Given the description of an element on the screen output the (x, y) to click on. 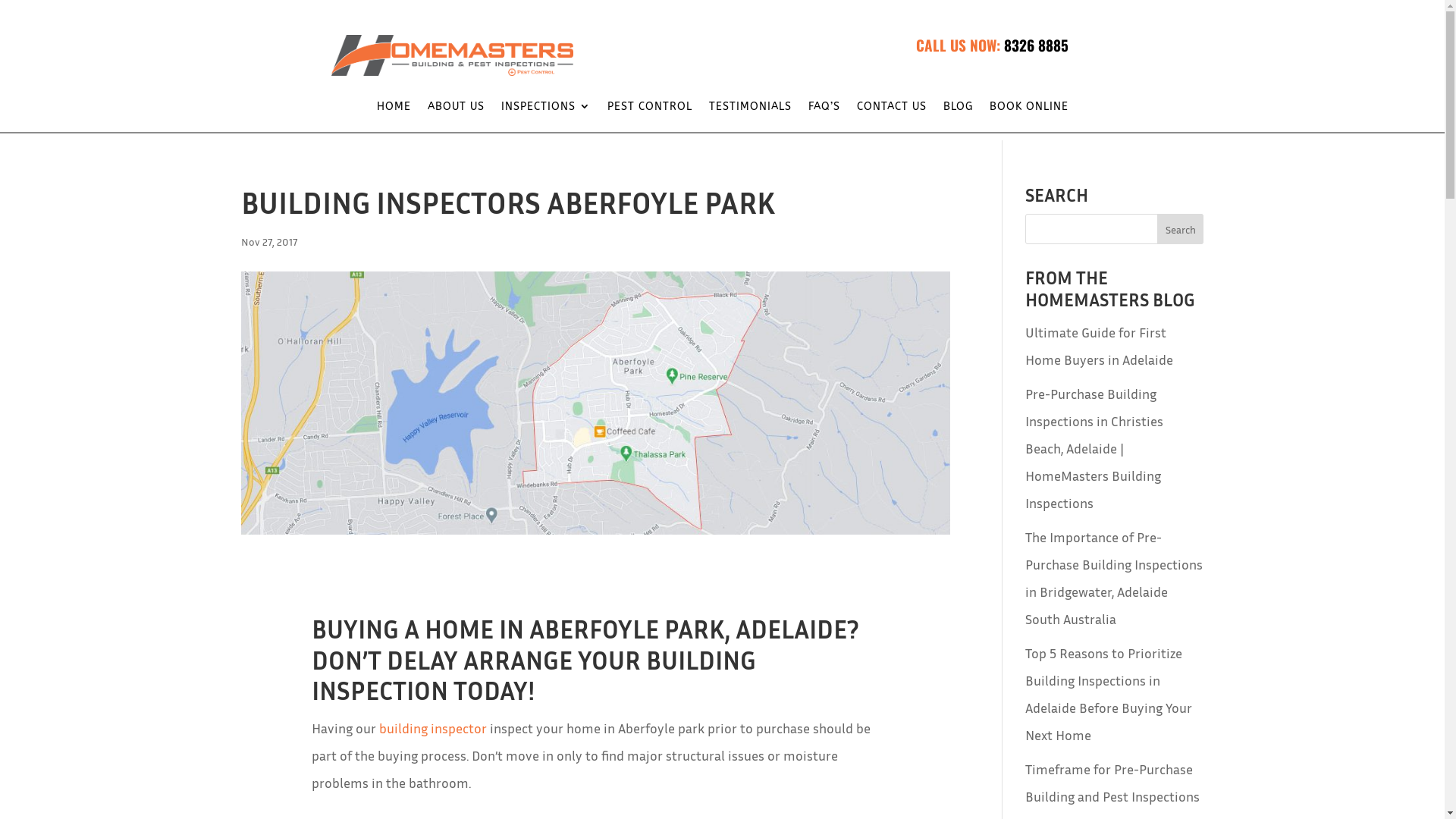
CALL US NOW: 8326 8885 Element type: text (992, 45)
TESTIMONIALS Element type: text (749, 109)
Search Element type: text (1180, 228)
Ultimate Guide for First Home Buyers in Adelaide Element type: text (1099, 345)
PEST CONTROL Element type: text (648, 109)
BLOG Element type: text (957, 109)
building inspector Element type: text (432, 727)
HOME Element type: text (393, 109)
BOOK ONLINE Element type: text (1027, 109)
ABOUT US Element type: text (455, 109)
Homemasters Building and Pest Inspectons + Pest Control Element type: hover (452, 54)
CONTACT US Element type: text (891, 109)
INSPECTIONS Element type: text (544, 109)
